Given the description of an element on the screen output the (x, y) to click on. 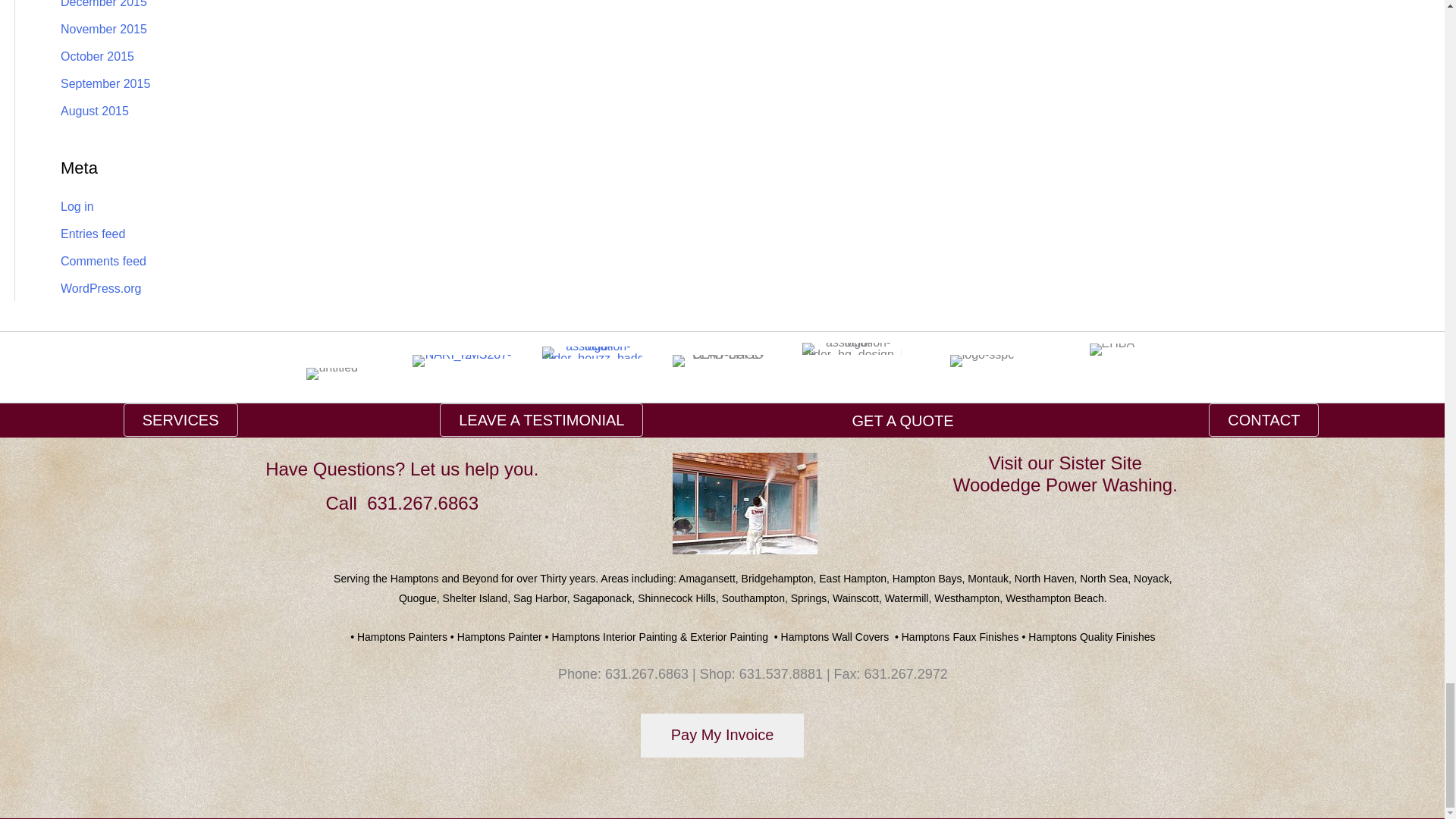
LEAD-SAFE-CERT-LOGO (721, 360)
Pay My Invoice (722, 734)
untitled (331, 373)
